Given the description of an element on the screen output the (x, y) to click on. 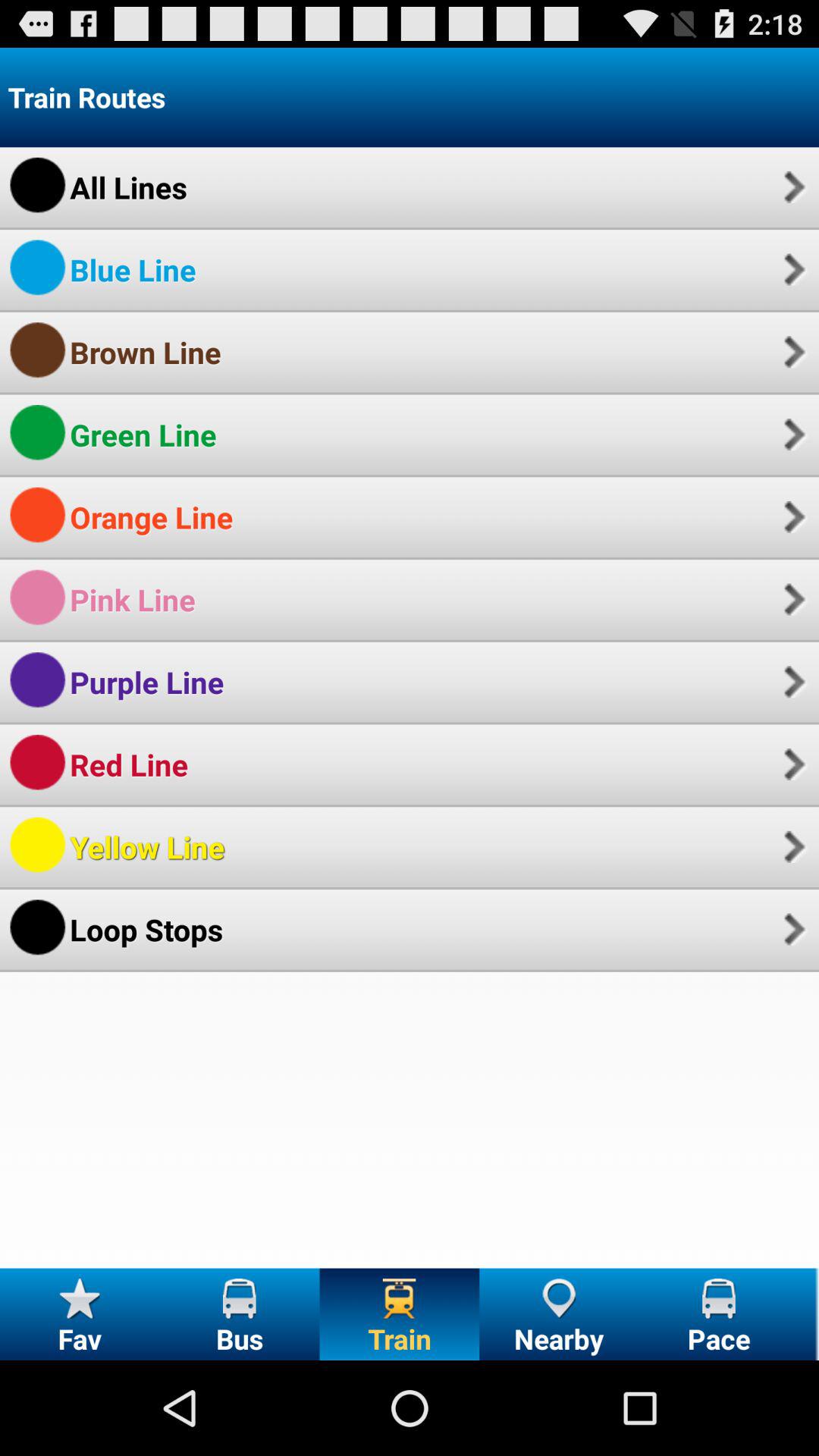
select the loop stops (145, 929)
